Given the description of an element on the screen output the (x, y) to click on. 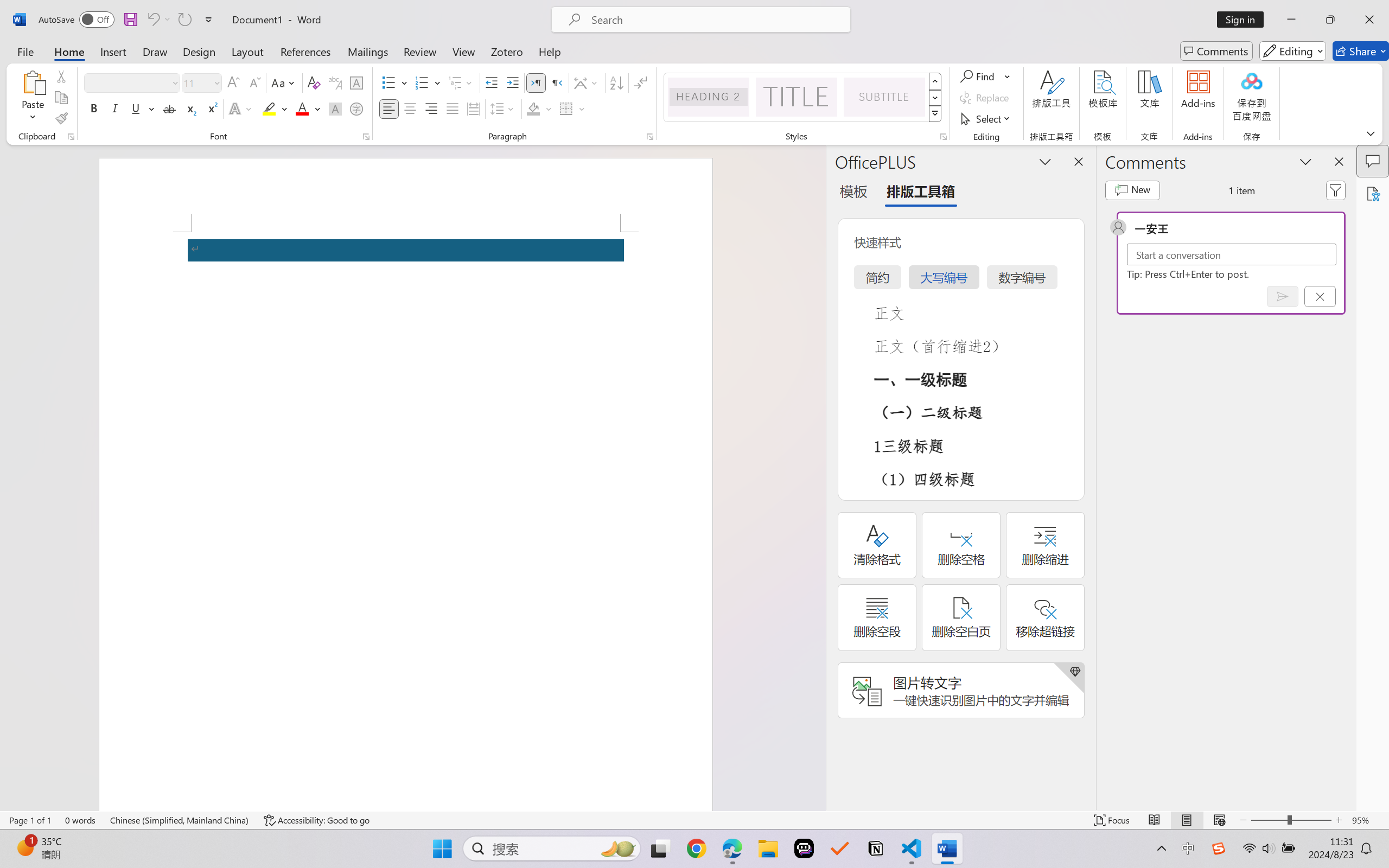
Subtitle (883, 96)
